Given the description of an element on the screen output the (x, y) to click on. 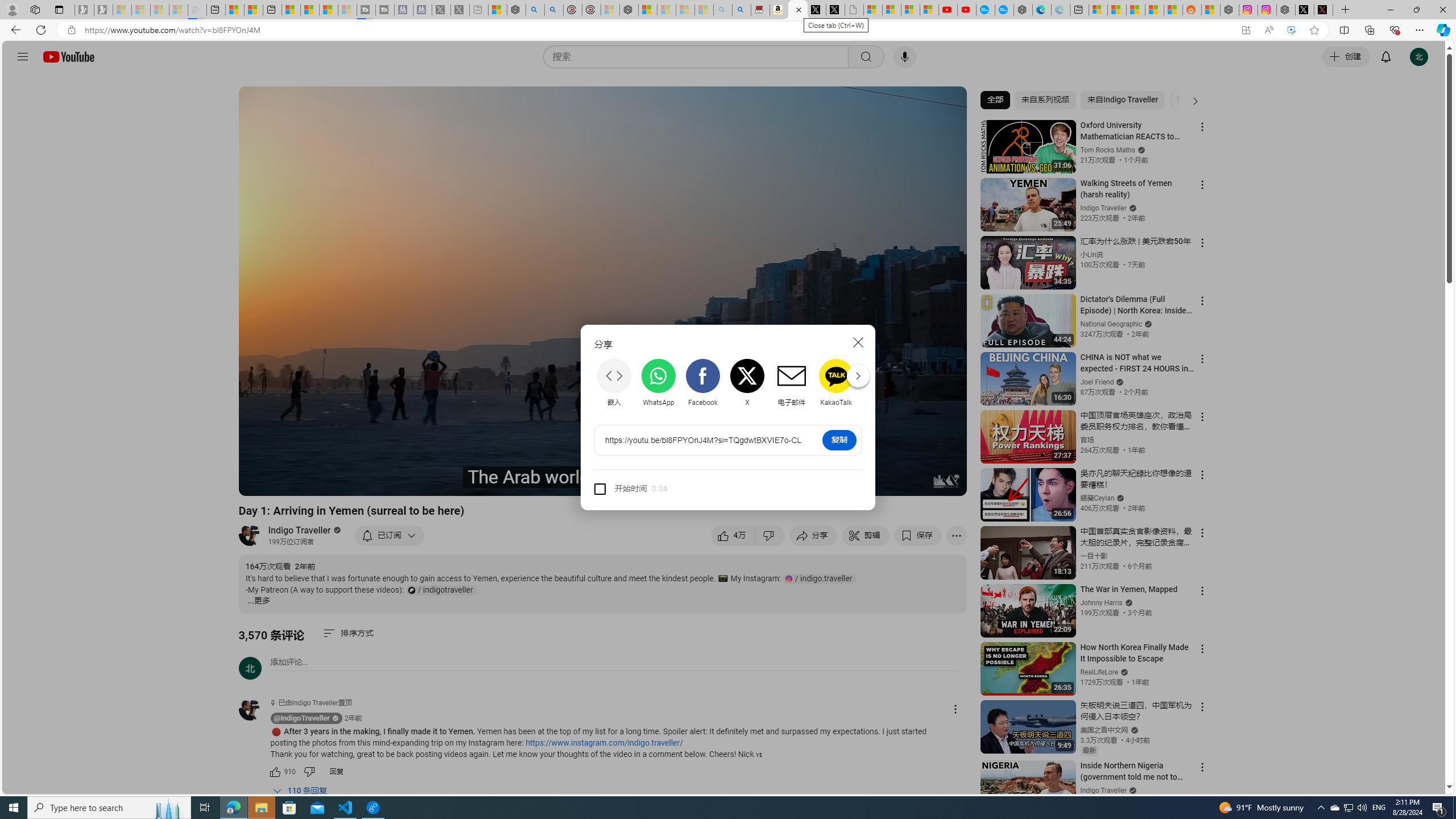
Class: ytp-subtitles-button-icon (837, 482)
Untitled (853, 9)
Nordace (@NordaceOfficial) / X (1304, 9)
KakaoTalk (836, 383)
